Given the description of an element on the screen output the (x, y) to click on. 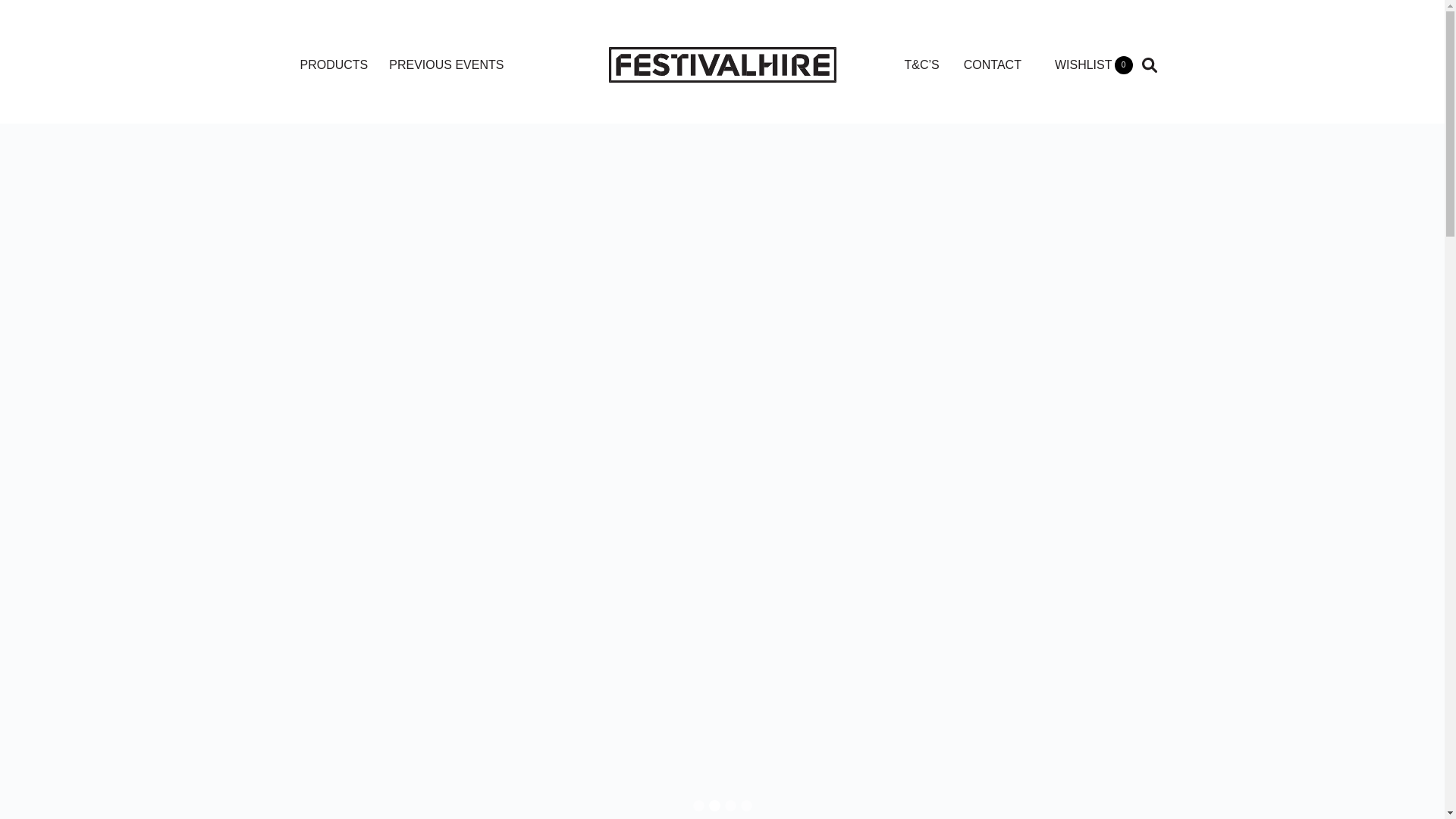
WISHLIST
0 Element type: text (1093, 65)
Festivalhire Element type: hover (721, 63)
PRODUCTS Element type: text (334, 65)
PREVIOUS EVENTS Element type: text (445, 65)
CONTACT Element type: text (992, 65)
